Given the description of an element on the screen output the (x, y) to click on. 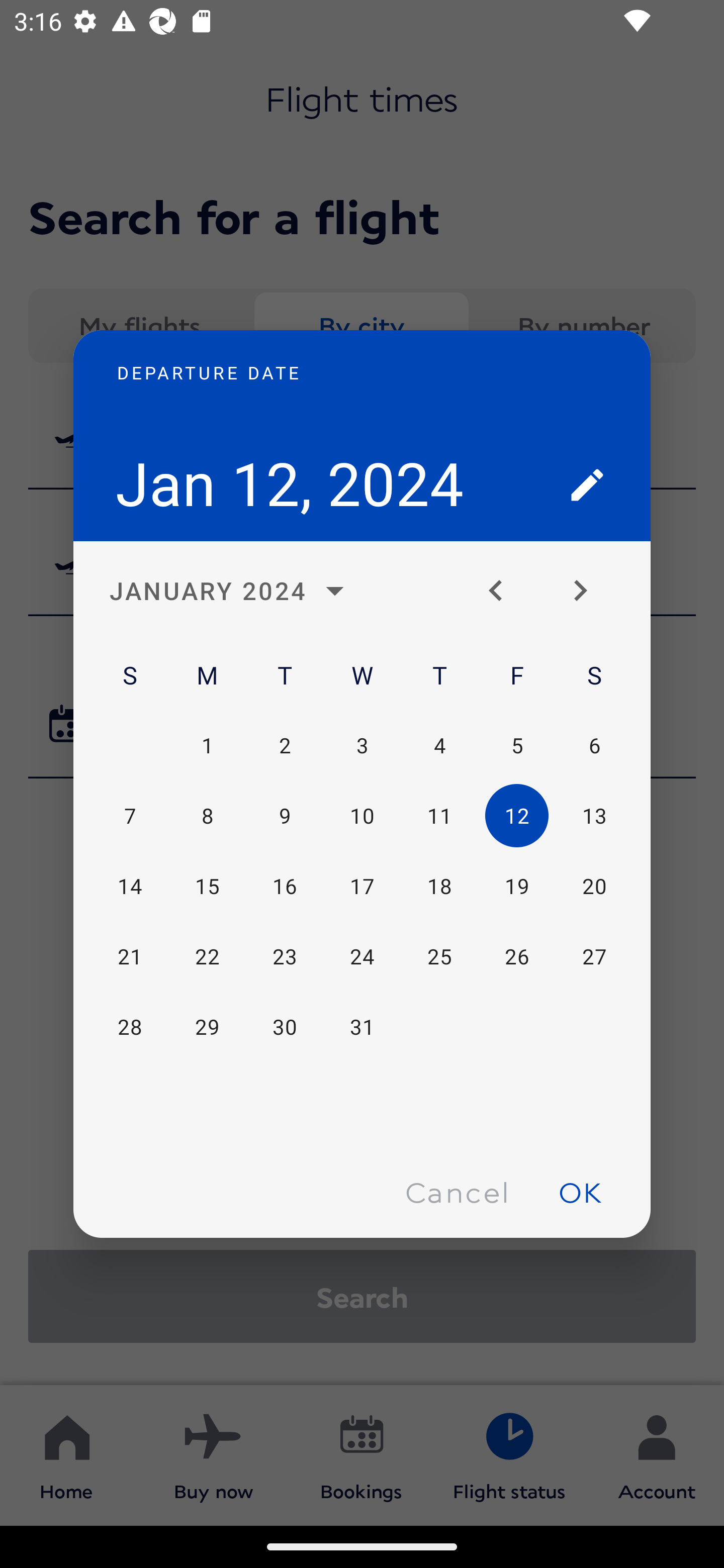
Switch to text input mode (587, 484)
JANUARY 2024 (231, 590)
Change to previous month (502, 590)
Change to next month (587, 590)
1 Mon, Jan 1 (207, 745)
2 Tue, Jan 2 (284, 745)
3 Wed, Jan 3 (361, 745)
4 Thu, Jan 4 (438, 745)
5 Fri, Jan 5 (516, 745)
6 Sat, Jan 6 (593, 745)
7 Sun, Jan 7 (129, 815)
8 Mon, Jan 8 (207, 815)
9 Tue, Jan 9 (284, 815)
10 Wed, Jan 10 (361, 815)
11 Thu, Jan 11 (438, 815)
12 Today Fri, Jan 12 (516, 815)
13 Sat, Jan 13 (593, 815)
14 Sun, Jan 14 (129, 886)
15 Mon, Jan 15 (207, 886)
16 Tue, Jan 16 (284, 886)
17 Wed, Jan 17 (361, 886)
18 Thu, Jan 18 (438, 886)
19 Fri, Jan 19 (516, 886)
20 Sat, Jan 20 (593, 886)
21 Sun, Jan 21 (129, 955)
22 Mon, Jan 22 (207, 955)
23 Tue, Jan 23 (284, 955)
24 Wed, Jan 24 (361, 955)
25 Thu, Jan 25 (438, 955)
26 Fri, Jan 26 (516, 955)
27 Sat, Jan 27 (593, 955)
28 Sun, Jan 28 (129, 1025)
29 Mon, Jan 29 (207, 1025)
30 Tue, Jan 30 (284, 1025)
31 Wed, Jan 31 (361, 1025)
Cancel (456, 1191)
OK null, OK (580, 1191)
